Given the description of an element on the screen output the (x, y) to click on. 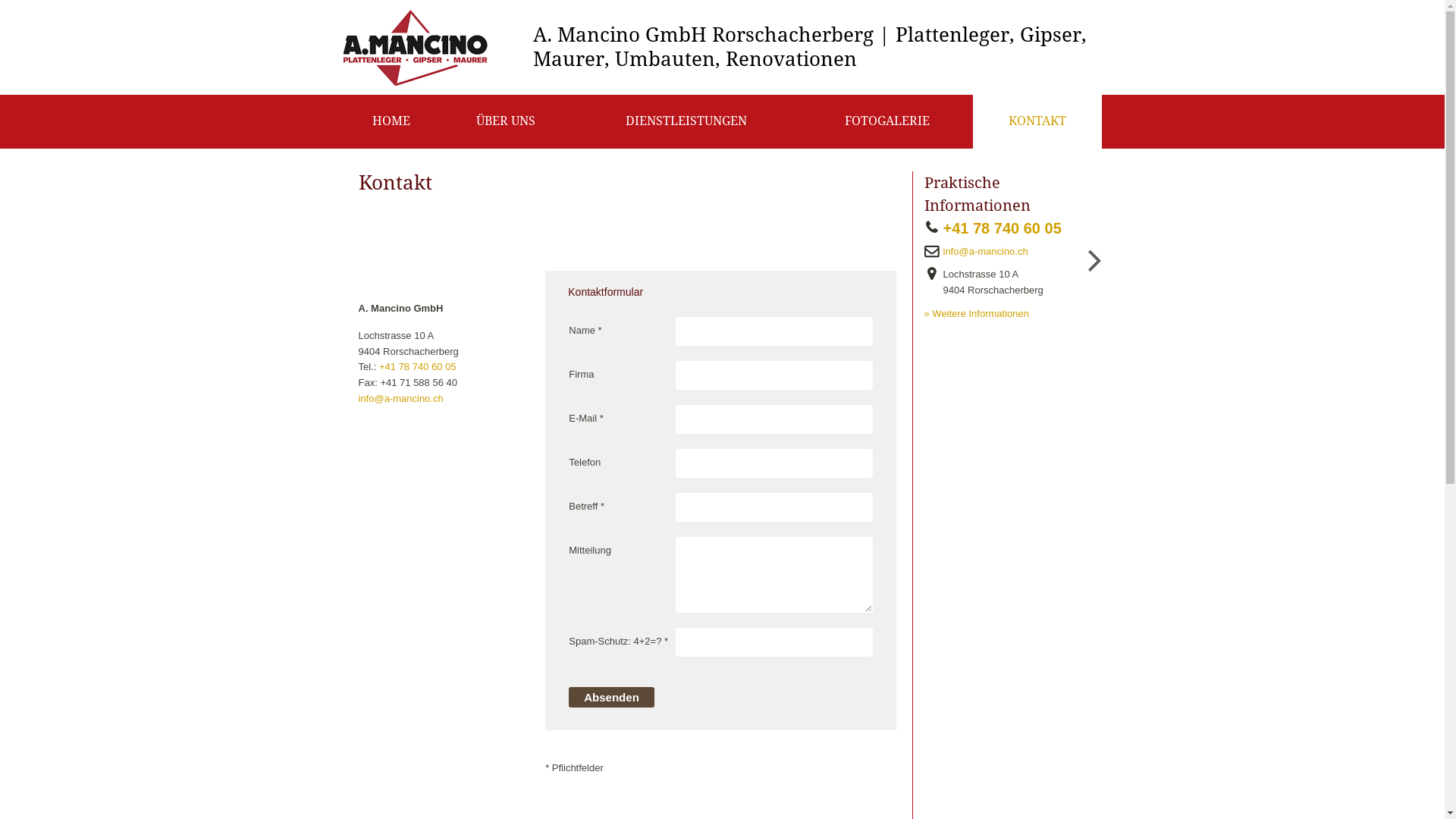
info@a-mancino.ch Element type: text (989, 252)
FOTOGALERIE Element type: text (886, 121)
Absenden Element type: text (611, 697)
HOME Element type: text (390, 121)
+41 78 740 60 05 Element type: text (1006, 228)
KONTAKT Element type: text (1036, 121)
+41 78 740 60 05 Element type: text (417, 366)
DIENSTLEISTUNGEN Element type: text (686, 121)
info@a-mancino.ch Element type: text (399, 398)
